Given the description of an element on the screen output the (x, y) to click on. 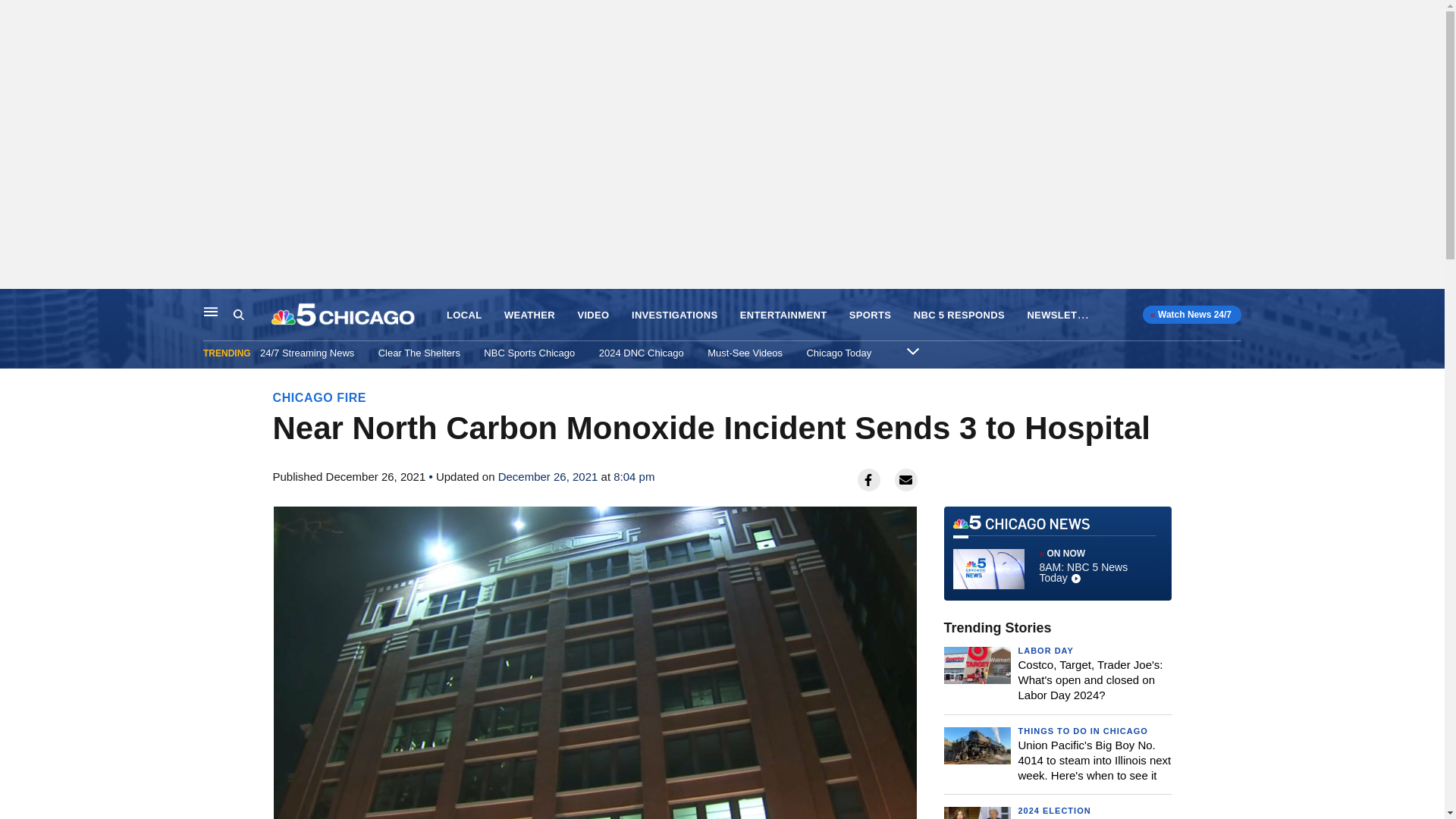
Clear The Shelters (419, 352)
ENTERTAINMENT (783, 315)
LABOR DAY (1045, 650)
THINGS TO DO IN CHICAGO (1082, 730)
SPORTS (869, 315)
2024 ELECTION (1053, 809)
LOCAL (463, 315)
Search (238, 314)
NBC 5 RESPONDS (959, 315)
